Given the description of an element on the screen output the (x, y) to click on. 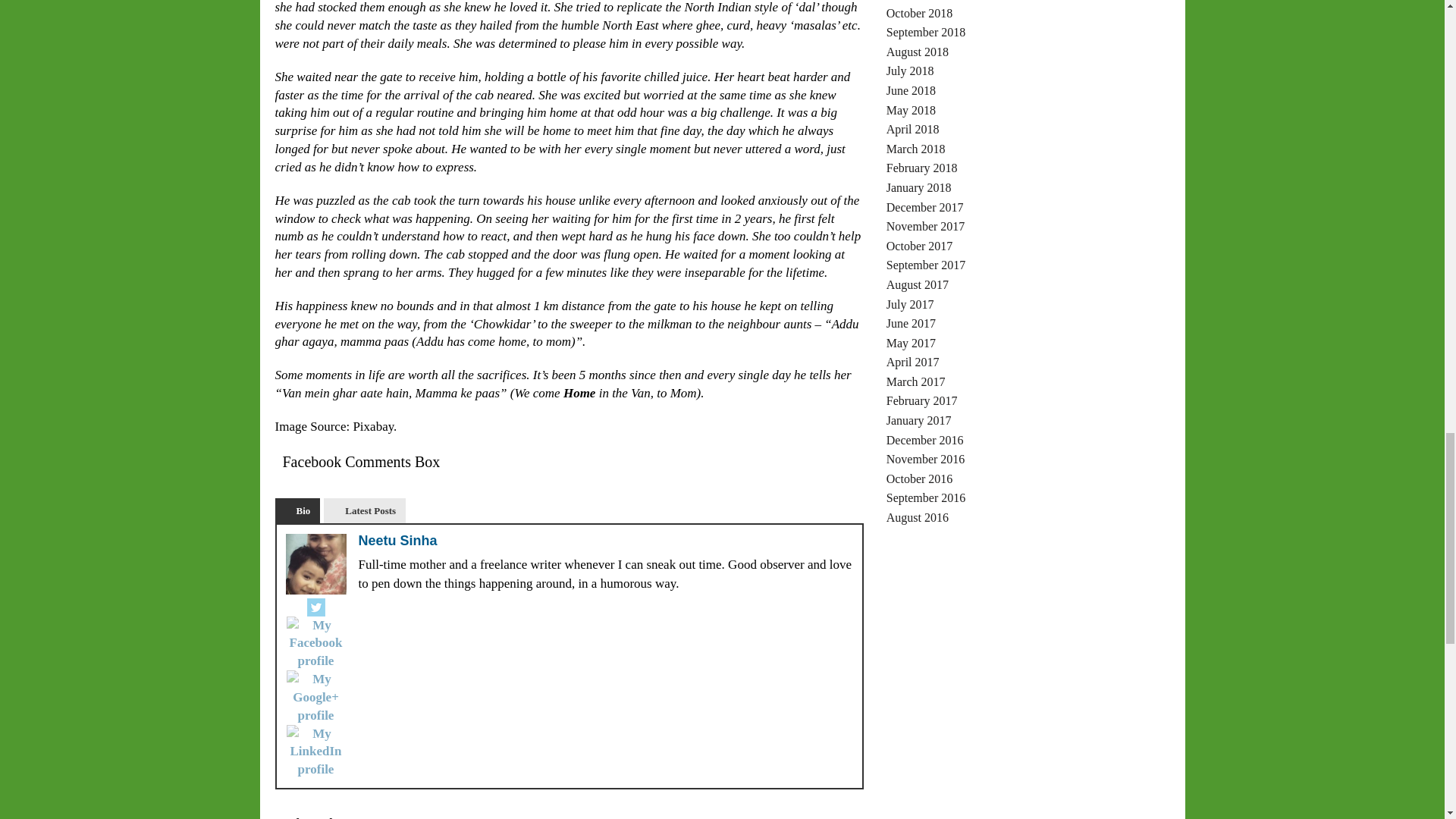
Twitter (314, 607)
LinkedIn (316, 751)
Facebook (316, 643)
